Given the description of an element on the screen output the (x, y) to click on. 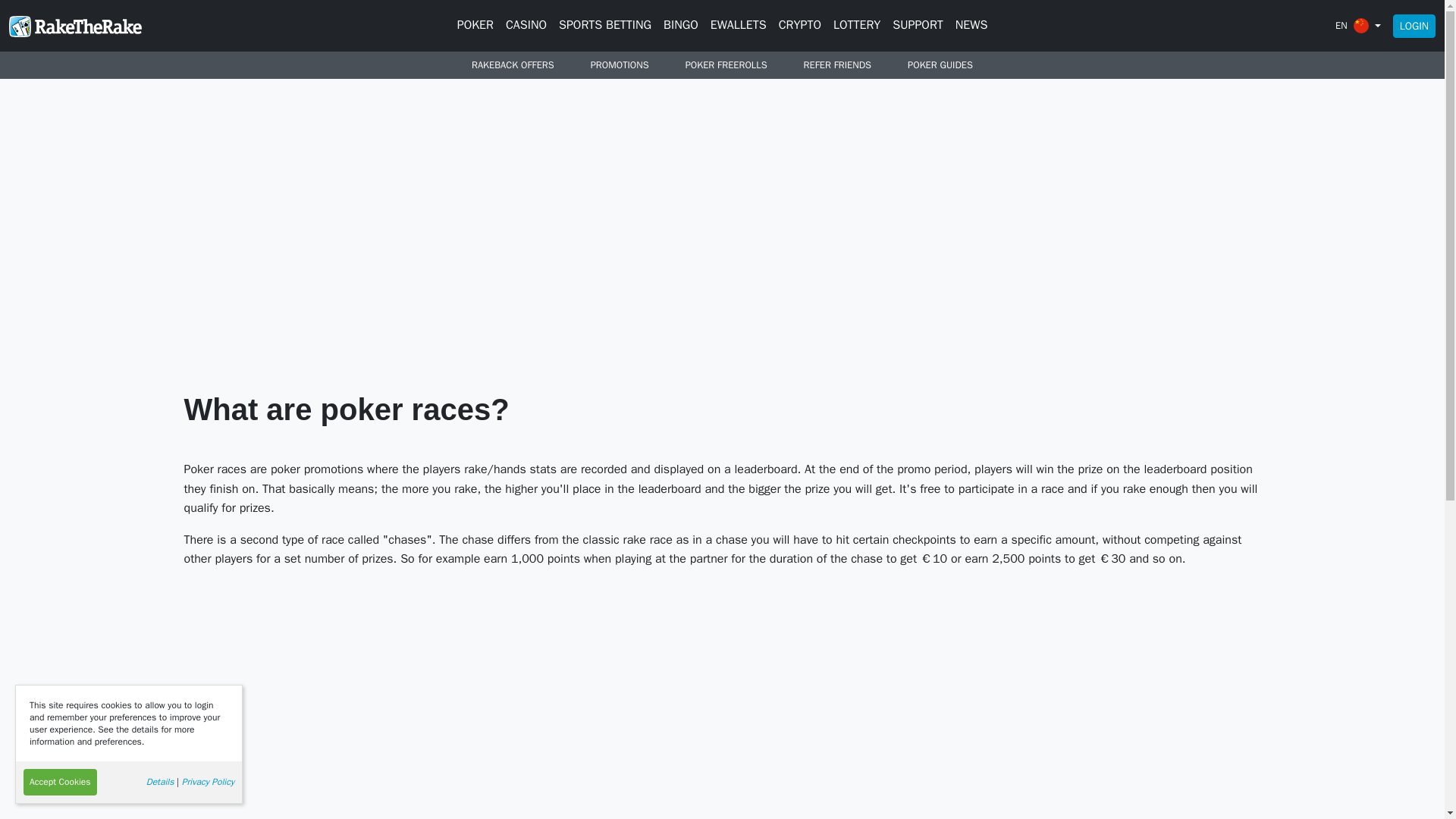
POKER FREEROLLS (726, 64)
EWALLETS (738, 25)
SPORTS BETTING (605, 25)
News (971, 25)
LOGIN (1414, 24)
CRYPTO (800, 25)
Casino (526, 25)
Promotions (619, 64)
eWallets (738, 25)
Support (917, 25)
Poker (475, 25)
PROMOTIONS (619, 64)
NEWS (971, 25)
POKER GUIDES (940, 64)
Lottery (856, 25)
